Given the description of an element on the screen output the (x, y) to click on. 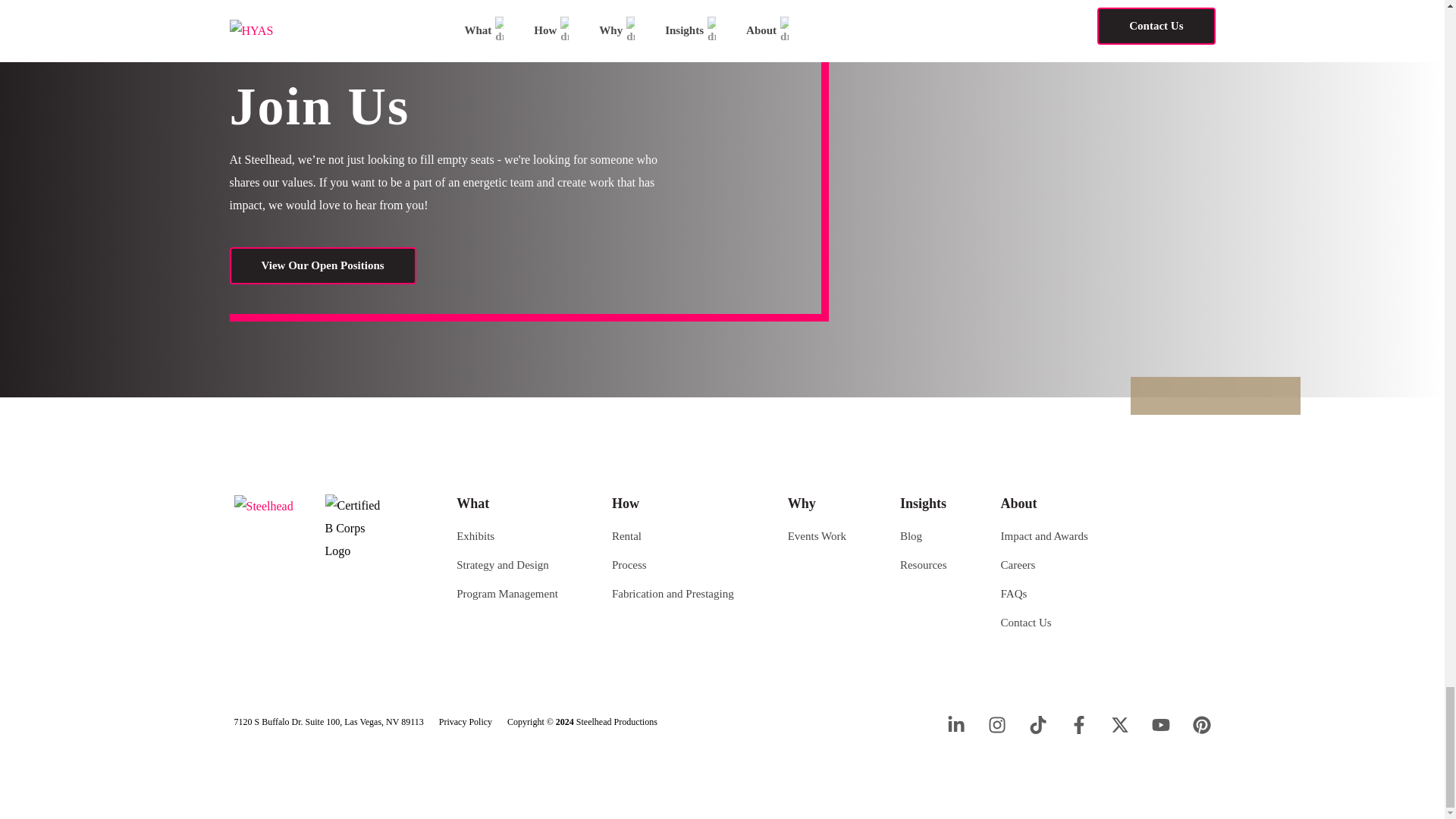
View Our Open Positions (321, 265)
Steelhead (262, 506)
What (507, 503)
